Given the description of an element on the screen output the (x, y) to click on. 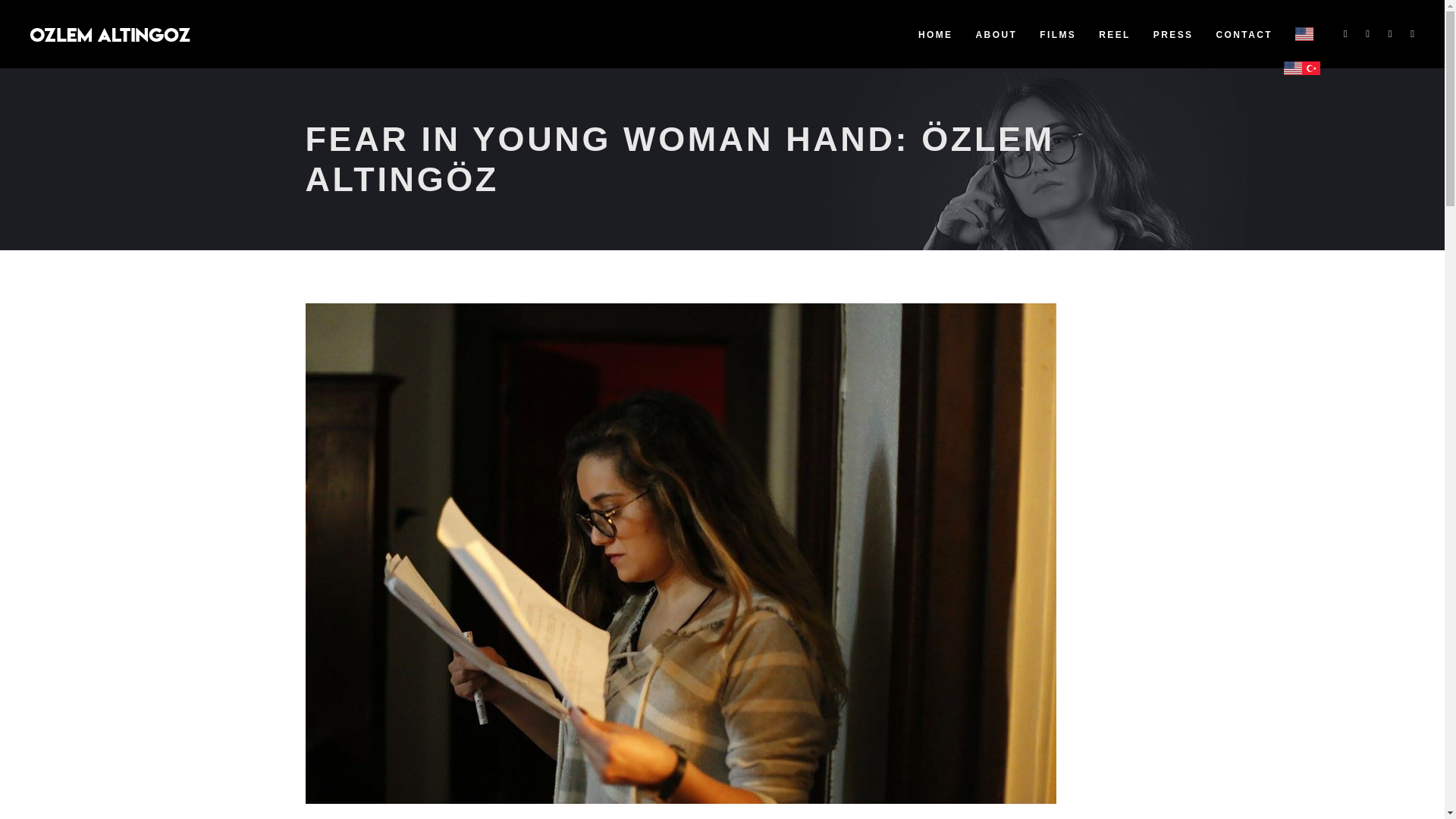
English (1292, 74)
ABOUT (996, 33)
CONTACT (1244, 33)
Turkish (1310, 74)
PRESS (1173, 33)
